Given the description of an element on the screen output the (x, y) to click on. 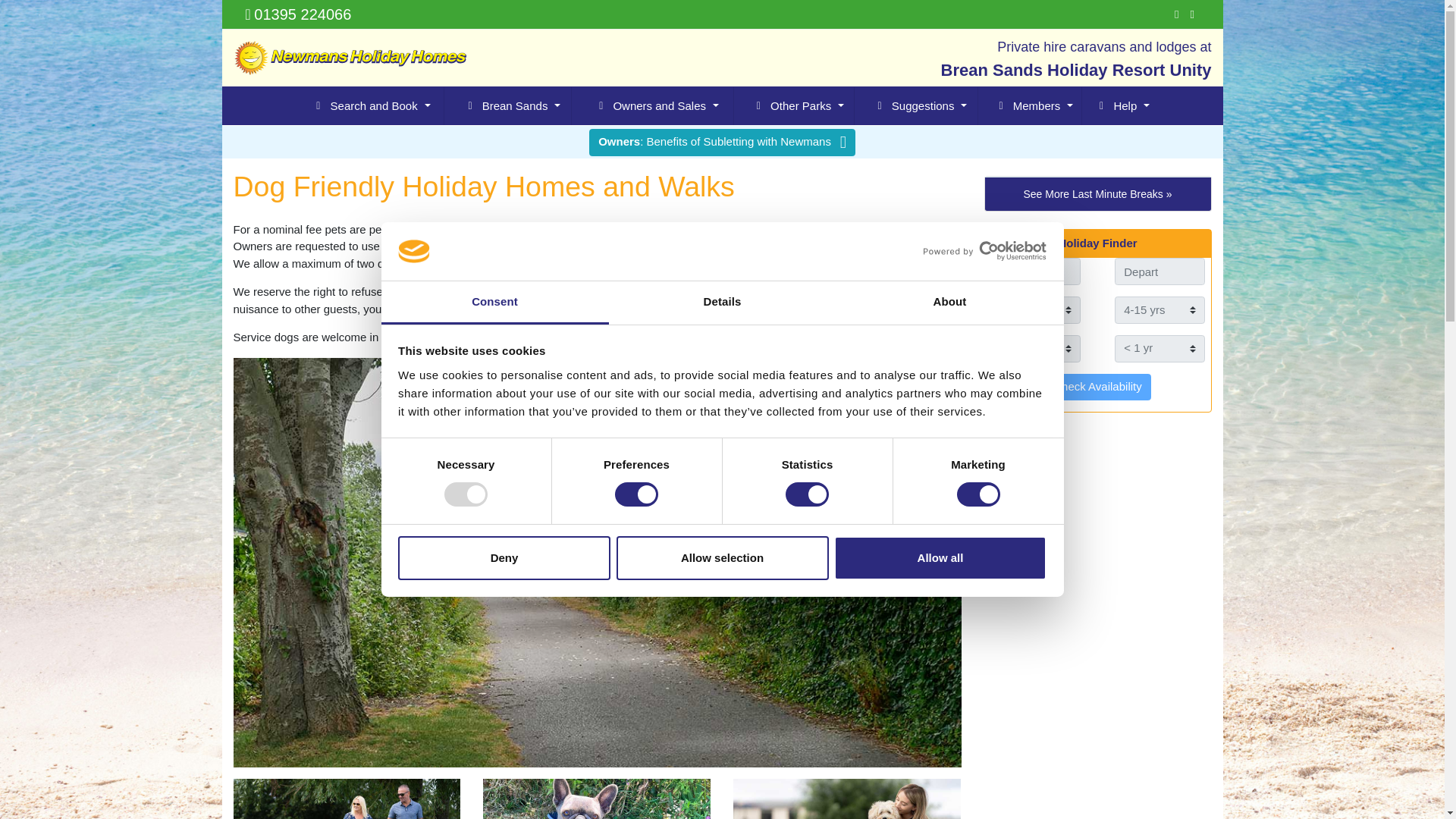
Allow selection (721, 557)
 01395 224066 (297, 13)
Consent (494, 302)
Newman's Holiday Homes - Home page (348, 57)
Details (721, 302)
Check Availability (1097, 386)
Dog Friendly (596, 798)
Deny (503, 557)
About (948, 302)
Dog Friendly (846, 798)
Allow all (940, 557)
